Given the description of an element on the screen output the (x, y) to click on. 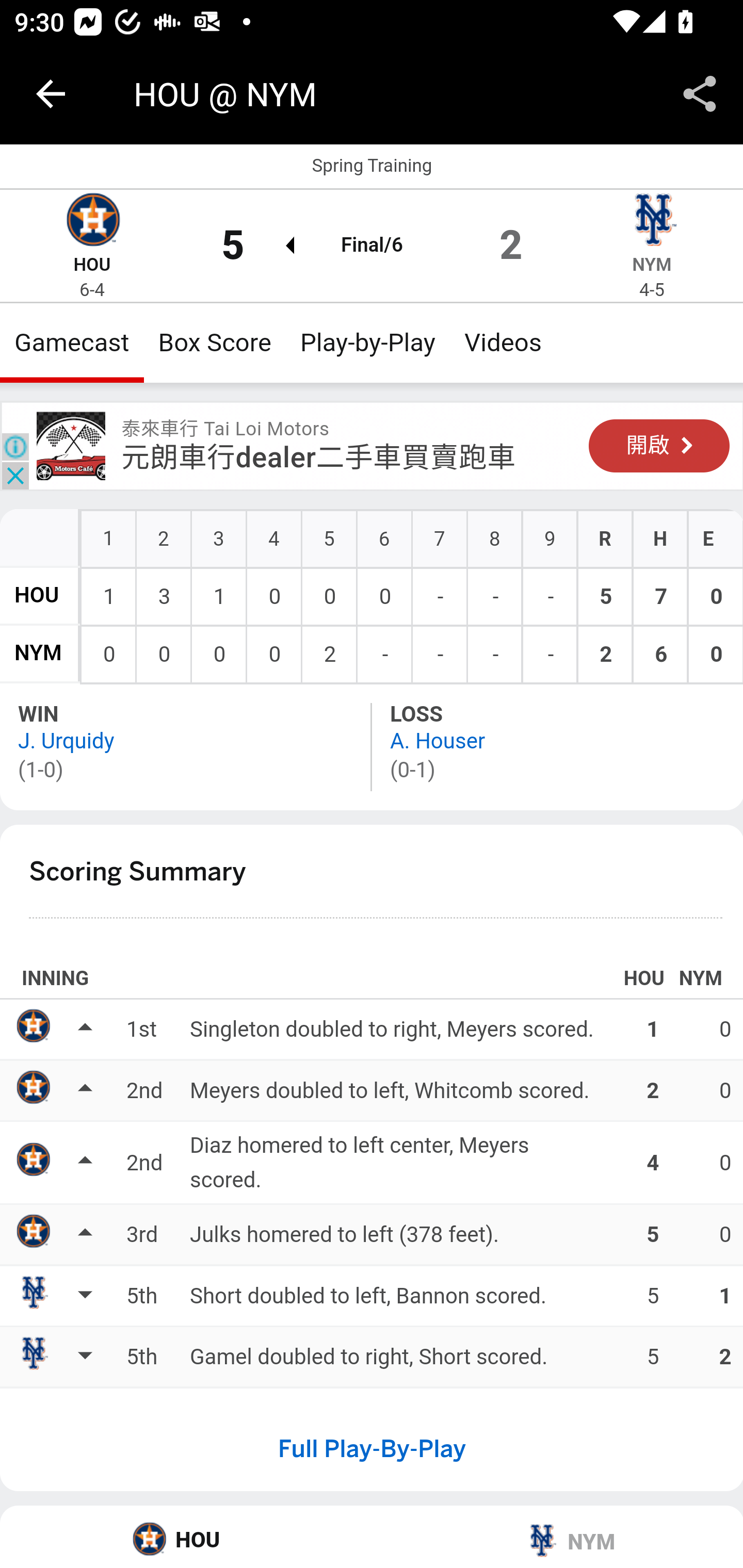
Navigate up (50, 93)
Share (699, 93)
Houston Astros (91, 221)
New York Mets (651, 221)
HOU (92, 264)
NYM (652, 264)
Gamecast (72, 342)
Box Score (214, 342)
Play-by-Play (368, 342)
Videos (502, 342)
泰來車行 Tai Loi Motors (71, 445)
泰來車行 Tai Loi Motors (224, 428)
開啟 (659, 445)
元朗車行dealer二手車買賣跑車 (318, 457)
HOU (36, 595)
NYM (38, 653)
WIN J. Urquidy (1-0) WIN J. Urquidy (1-0) (186, 746)
LOSS A. Houser (0-1) LOSS A. Houser (0-1) (557, 746)
Full Play-By-Play (371, 1448)
HOU (186, 1536)
NYM (557, 1536)
